Given the description of an element on the screen output the (x, y) to click on. 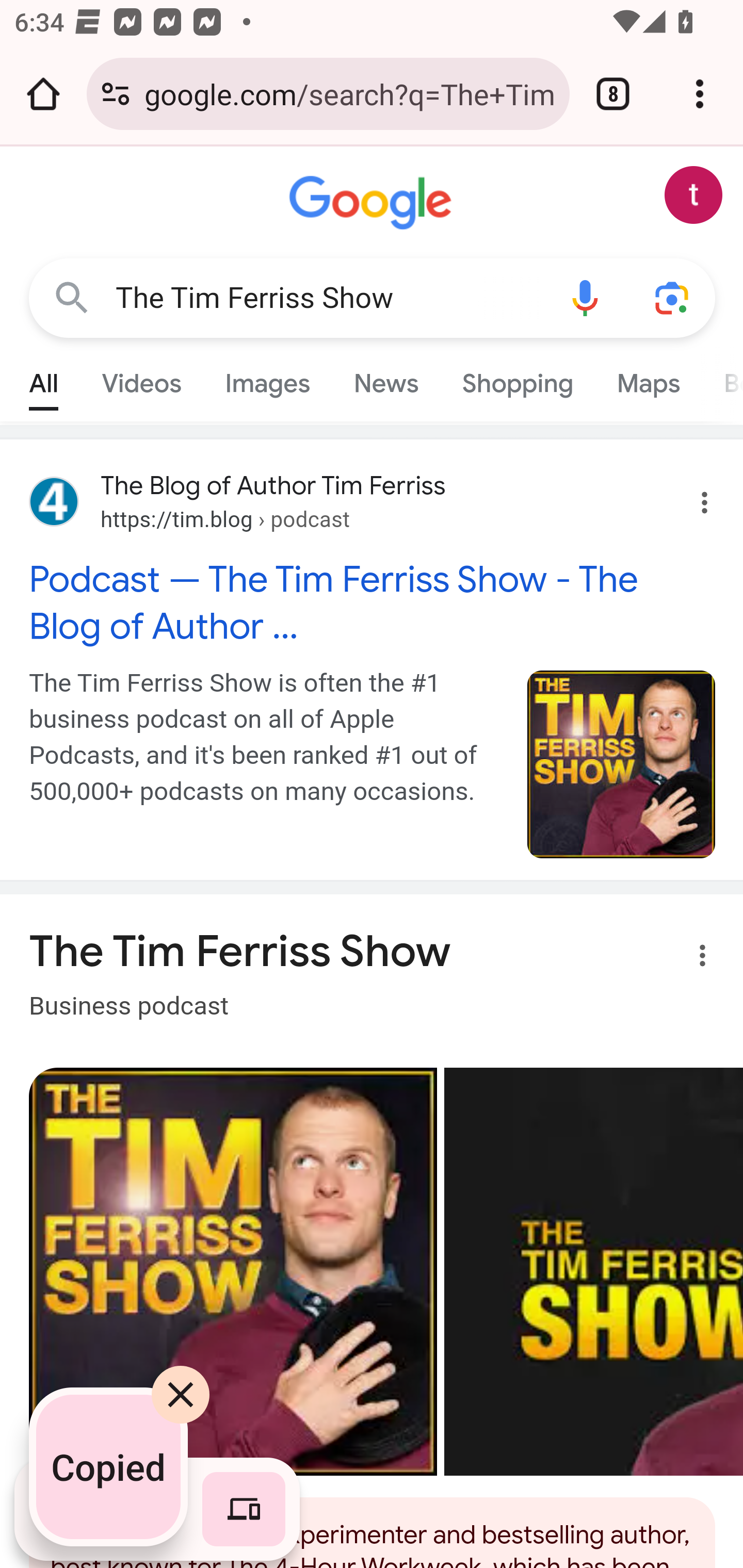
Open the home page (43, 93)
Connection is secure (115, 93)
Switch or close tabs (612, 93)
Customize and control Google Chrome (699, 93)
Google (372, 203)
Google Search (71, 296)
Search using your camera or photos (672, 296)
The Tim Ferriss Show (328, 297)
Videos (141, 378)
Images (267, 378)
News (385, 378)
Shopping (516, 378)
Maps (647, 378)
?amp (621, 764)
More options (690, 959)
